Given the description of an element on the screen output the (x, y) to click on. 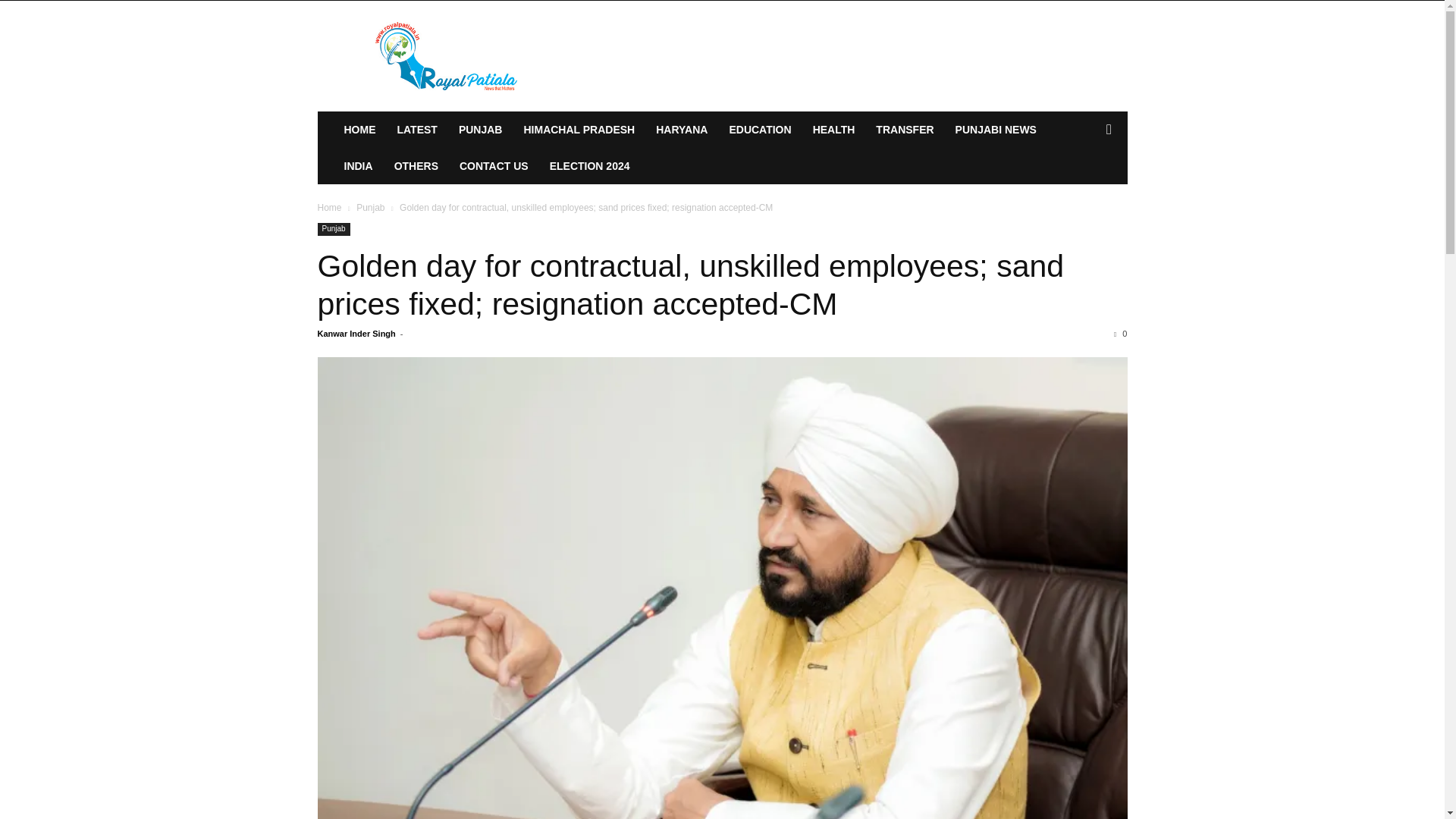
OTHERS (416, 166)
LATEST (417, 129)
INDIA (358, 166)
ELECTION 2024 (589, 166)
HARYANA (681, 129)
Home (328, 207)
TRANSFER (903, 129)
HOME (360, 129)
CONTACT US (493, 166)
Royal Patiala (446, 56)
PUNJAB (480, 129)
Search (1085, 190)
View all posts in Punjab (370, 207)
